Given the description of an element on the screen output the (x, y) to click on. 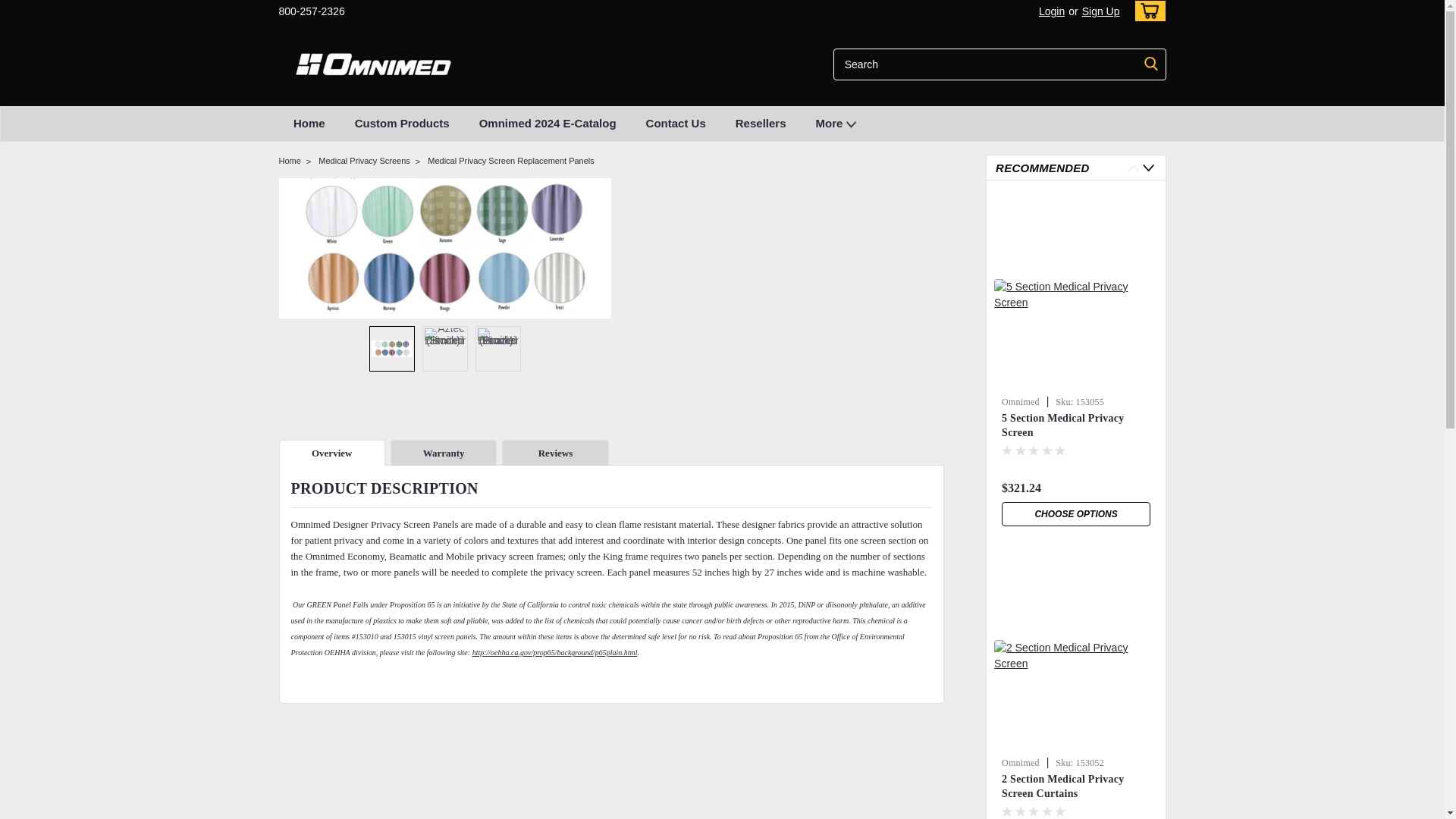
Medical Privacy Screen Replacement Panels (391, 348)
Login (1051, 11)
Sign Up (1098, 11)
Medical Privacy Screen Replacement Panels (445, 247)
Omnimed (373, 63)
submit (1150, 63)
